Given the description of an element on the screen output the (x, y) to click on. 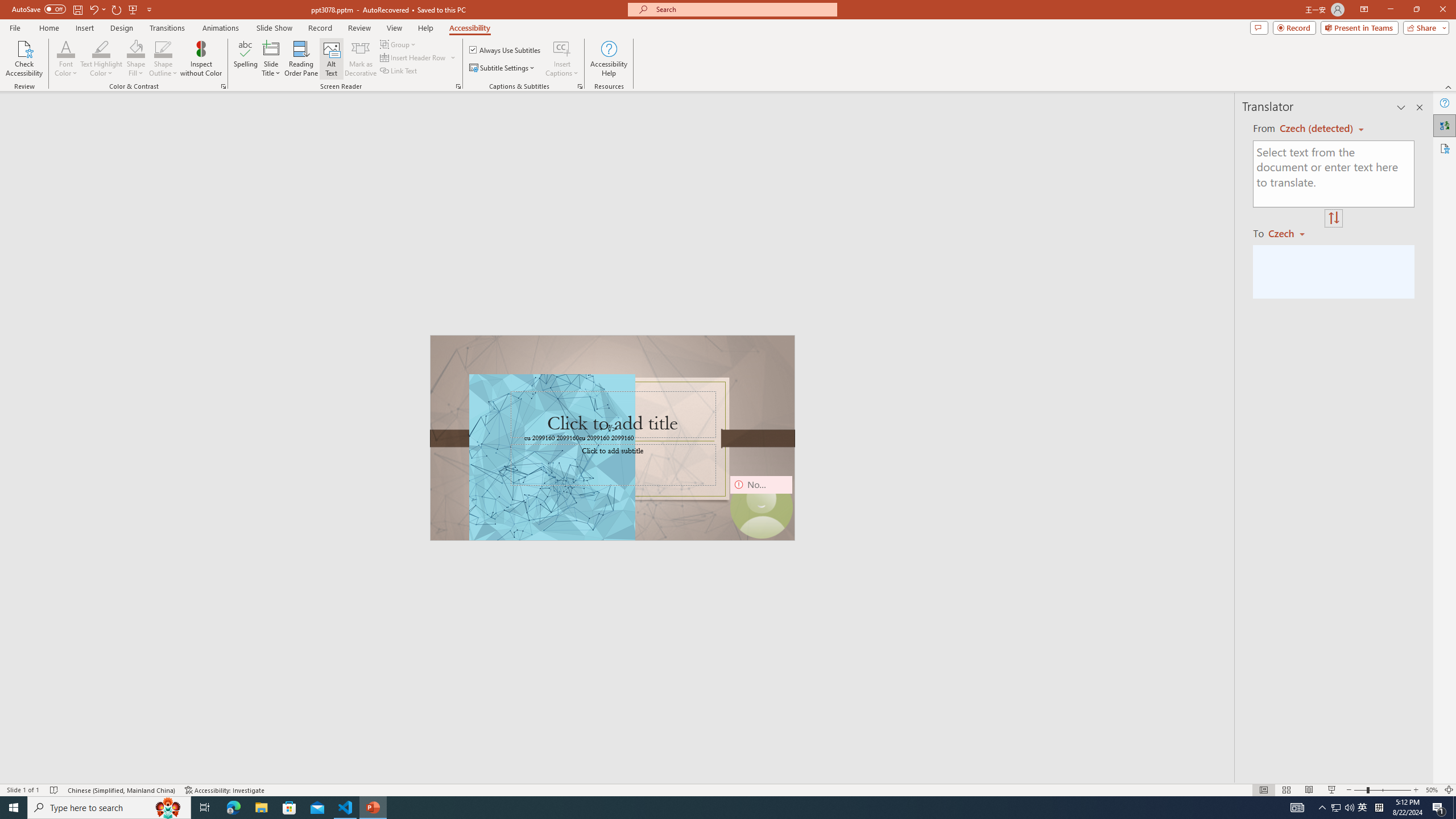
Subtitle Settings (502, 67)
English (1317, 128)
